Given the description of an element on the screen output the (x, y) to click on. 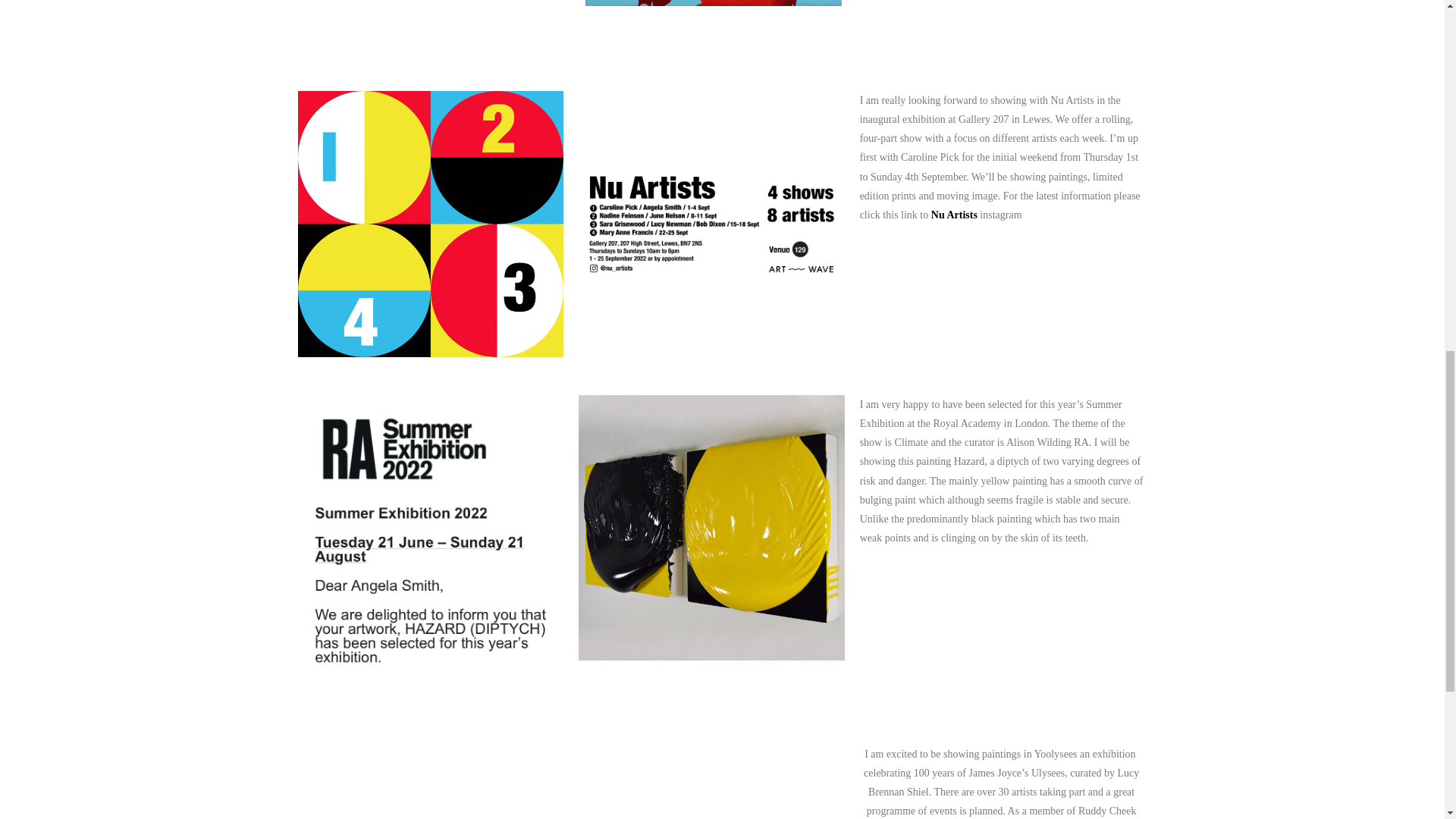
Nu Artists (955, 214)
